Given the description of an element on the screen output the (x, y) to click on. 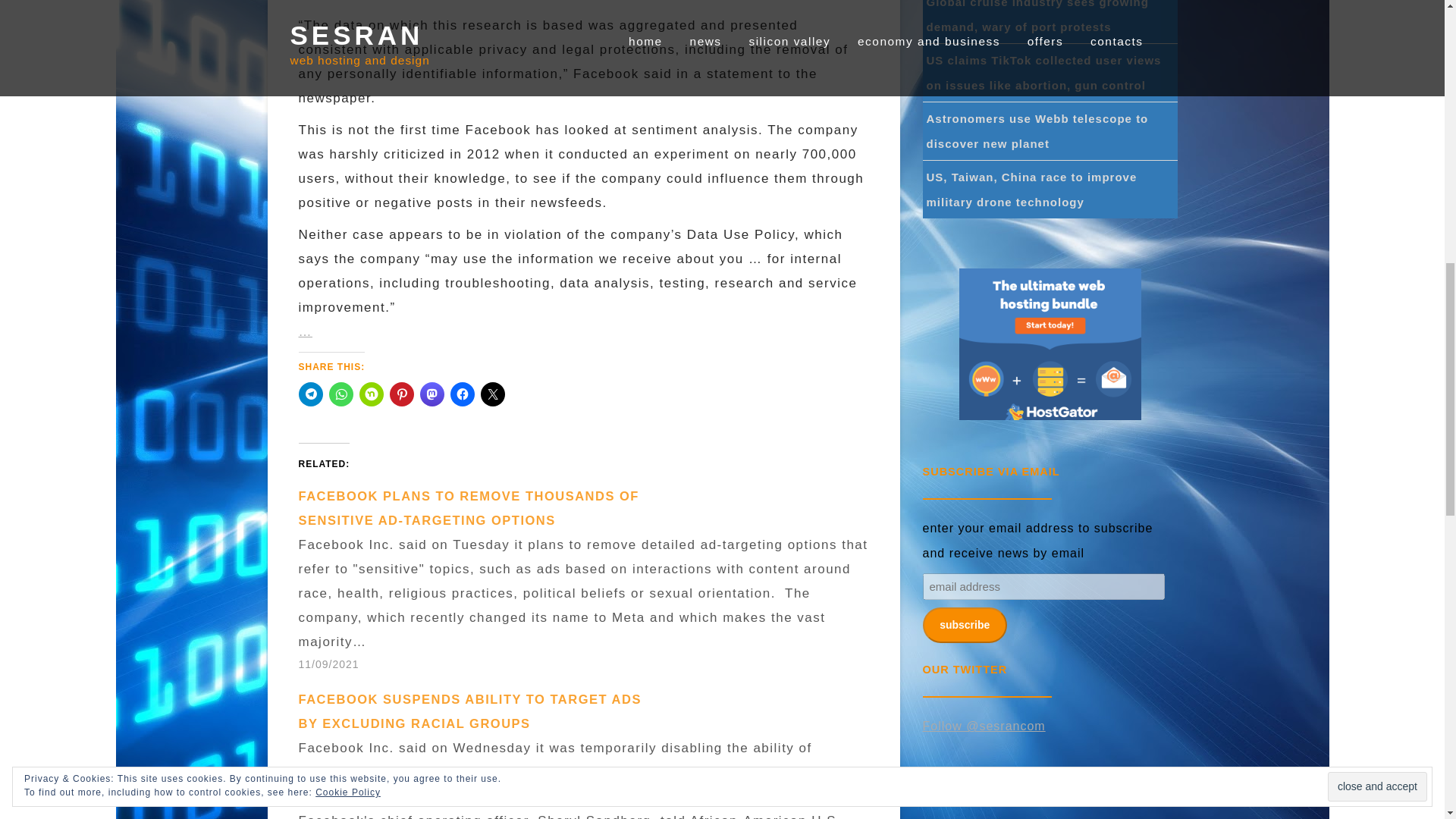
Click to share on Telegram (310, 394)
Click to share on Pinterest (401, 394)
Click to share on Nextdoor (371, 394)
Astronomers use Webb telescope to discover new planet (1037, 130)
Click to share on WhatsApp (341, 394)
Click to share on Facebook (461, 394)
subscribe (963, 625)
